Given the description of an element on the screen output the (x, y) to click on. 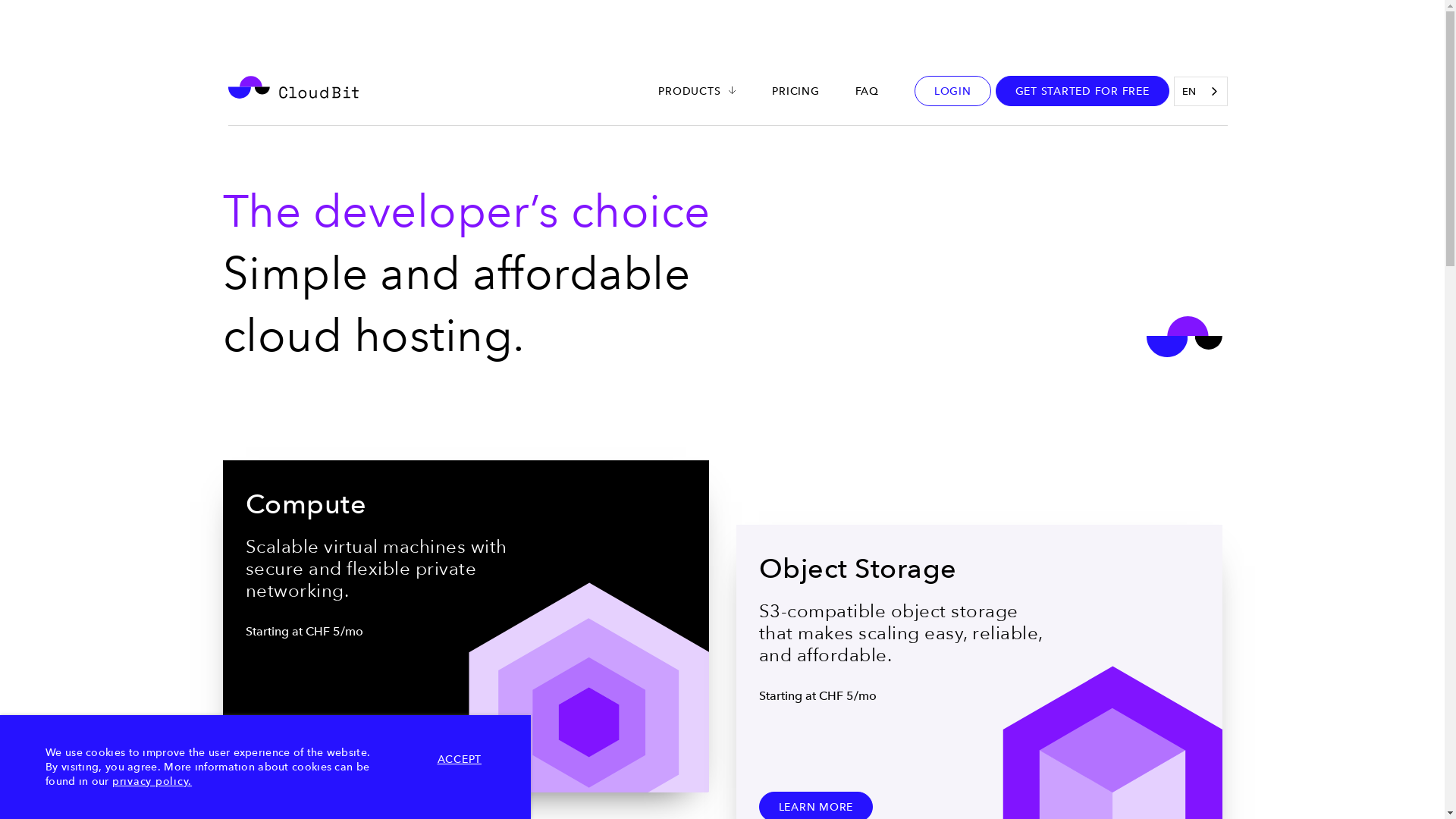
Compute Element type: hover (465, 625)
PRICING Element type: text (795, 90)
Cloudbit Element type: hover (293, 89)
ACCEPT Element type: text (459, 758)
PRODUCTS Element type: text (689, 90)
LEARN MORE Element type: text (302, 742)
FAQ Element type: text (866, 90)
LOGIN Element type: text (952, 90)
privacy policy. Element type: text (151, 781)
GET STARTED FOR FREE Element type: text (1081, 90)
EN Element type: text (1199, 91)
